Given the description of an element on the screen output the (x, y) to click on. 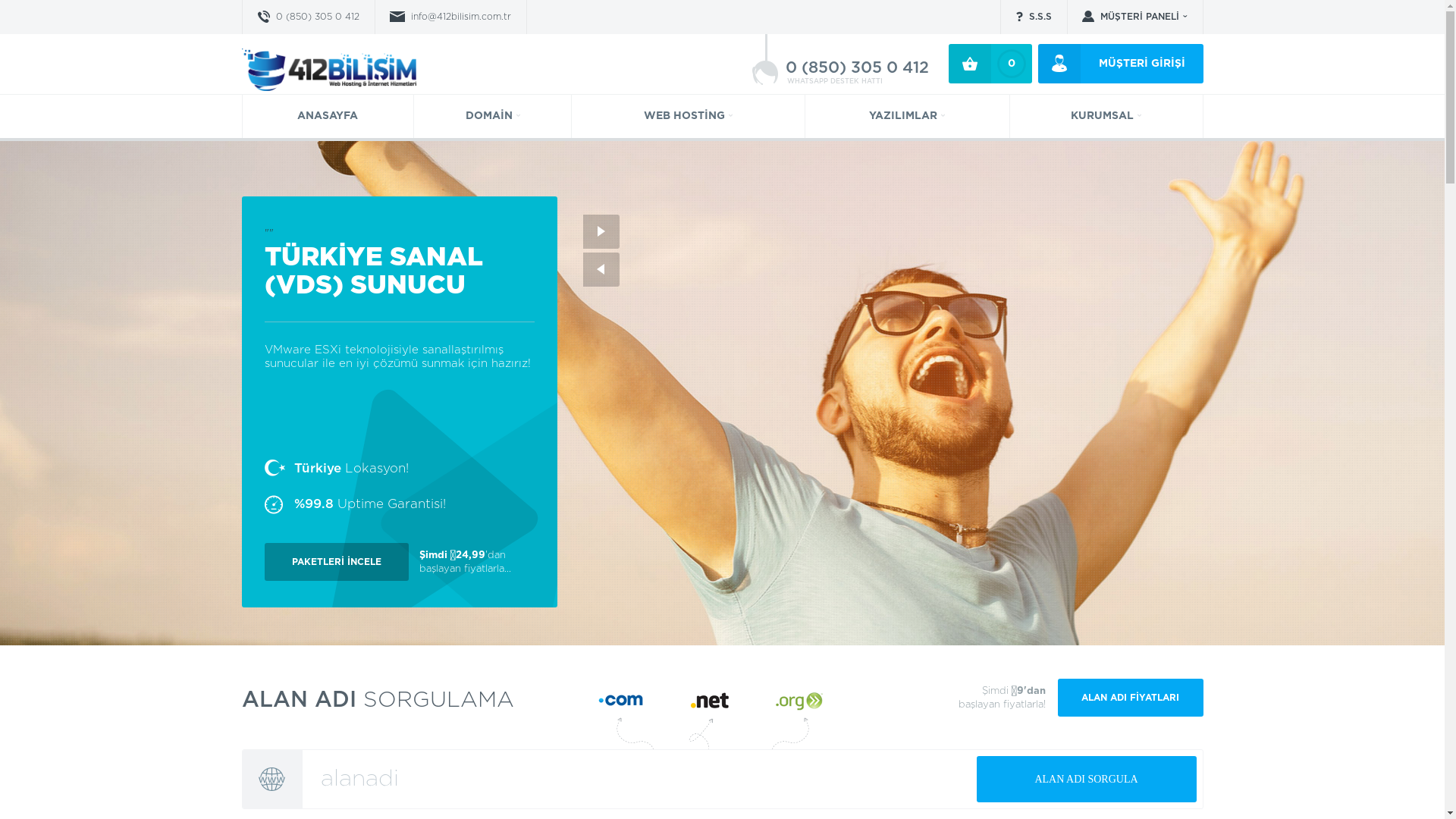
S.S.S Element type: text (1032, 17)
info@412bilisim.com.tr Element type: text (450, 17)
ANASAYFA Element type: text (328, 116)
ALAN ADI SORGULA Element type: text (1086, 779)
KURUMSAL Element type: text (1106, 116)
0 Element type: text (989, 63)
Next Element type: text (600, 231)
0 (850) 305 0 412 Element type: text (307, 17)
Prev Element type: text (600, 269)
YAZILIMLAR Element type: text (907, 116)
